Given the description of an element on the screen output the (x, y) to click on. 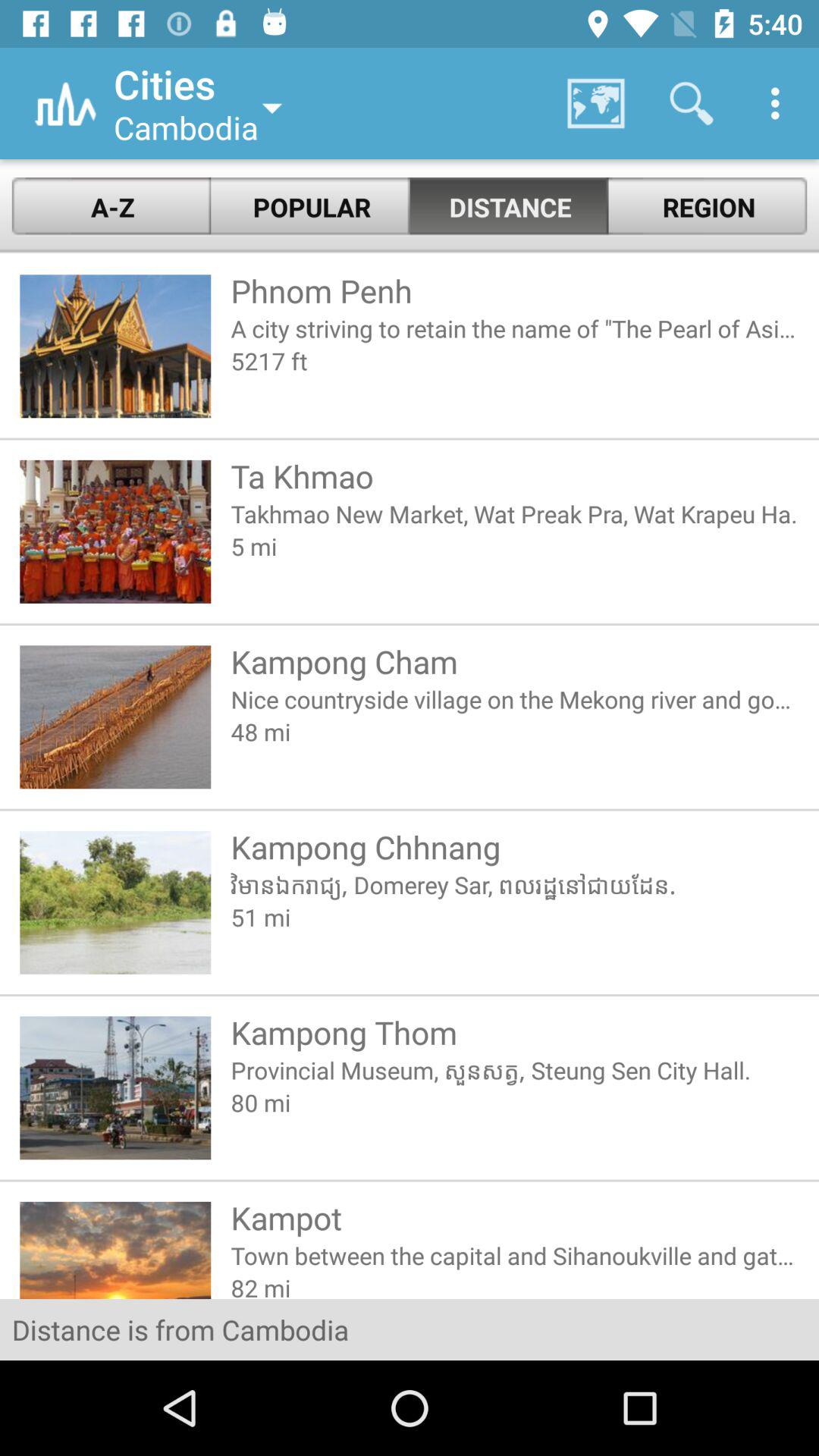
turn on the kampong chhnang (514, 846)
